Given the description of an element on the screen output the (x, y) to click on. 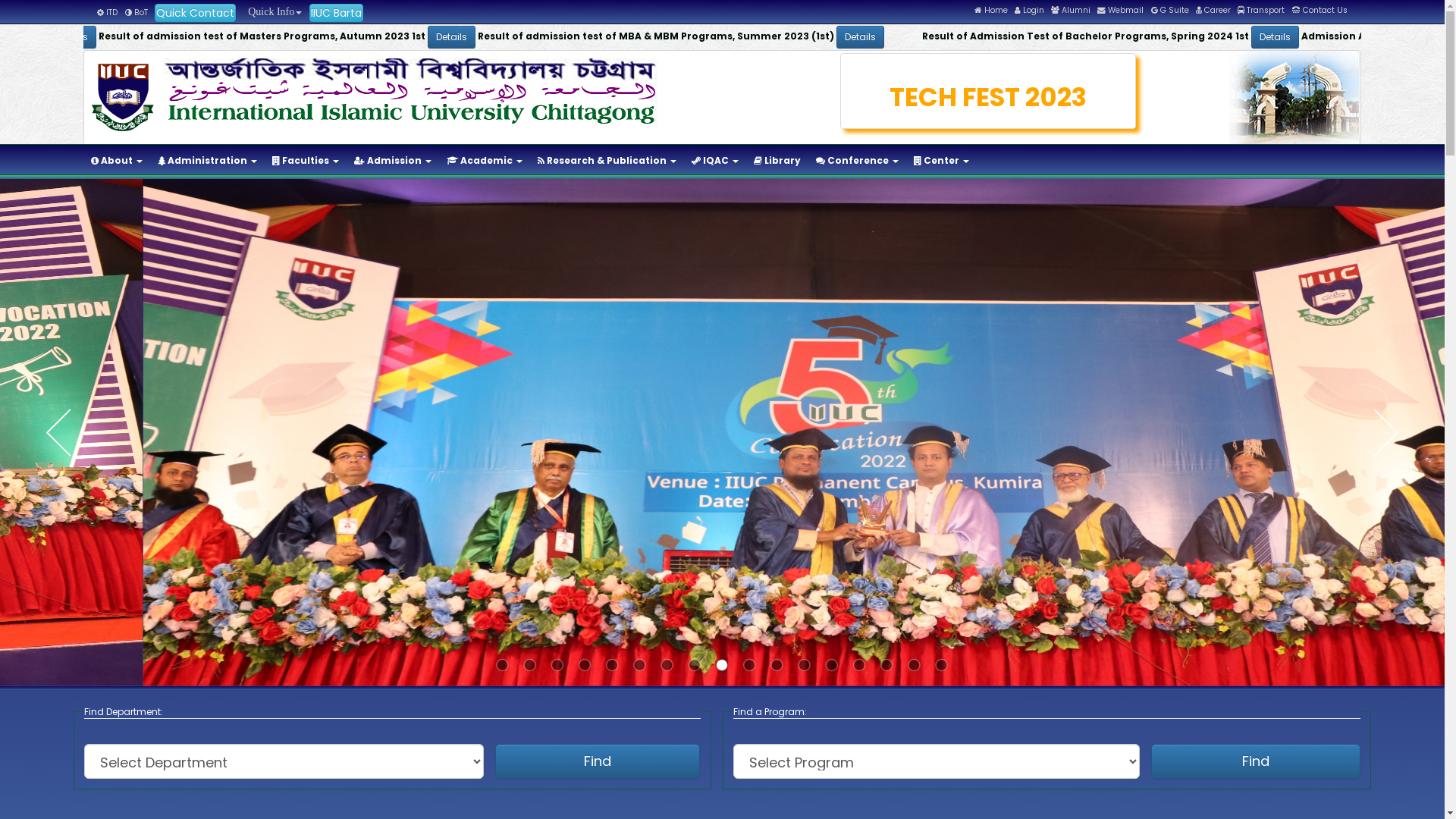
Center Element type: text (941, 160)
Conference Element type: text (857, 160)
Transport Element type: text (1260, 9)
Login Element type: text (1029, 9)
Find Element type: text (1255, 760)
Alumni Element type: text (1070, 9)
Admission Element type: text (392, 160)
Contact Us Element type: text (1319, 9)
Details Element type: text (1177, 36)
Webmail Element type: text (1120, 9)
Research & Publication Element type: text (607, 160)
About Element type: text (116, 160)
Faculties Element type: text (305, 160)
Administration Element type: text (207, 160)
BoT Element type: text (136, 12)
Academic Element type: text (484, 160)
Home Element type: text (990, 9)
Career Element type: text (1212, 9)
IIUC Barta Element type: text (336, 12)
G Suite Element type: text (1170, 9)
Find Element type: text (597, 760)
TECH FEST 2023 Element type: text (988, 97)
Library Element type: text (777, 160)
ITD Element type: text (107, 12)
IQAC Element type: text (715, 160)
  Quick Info Element type: text (271, 11)
Quick Contact Element type: text (194, 12)
